Given the description of an element on the screen output the (x, y) to click on. 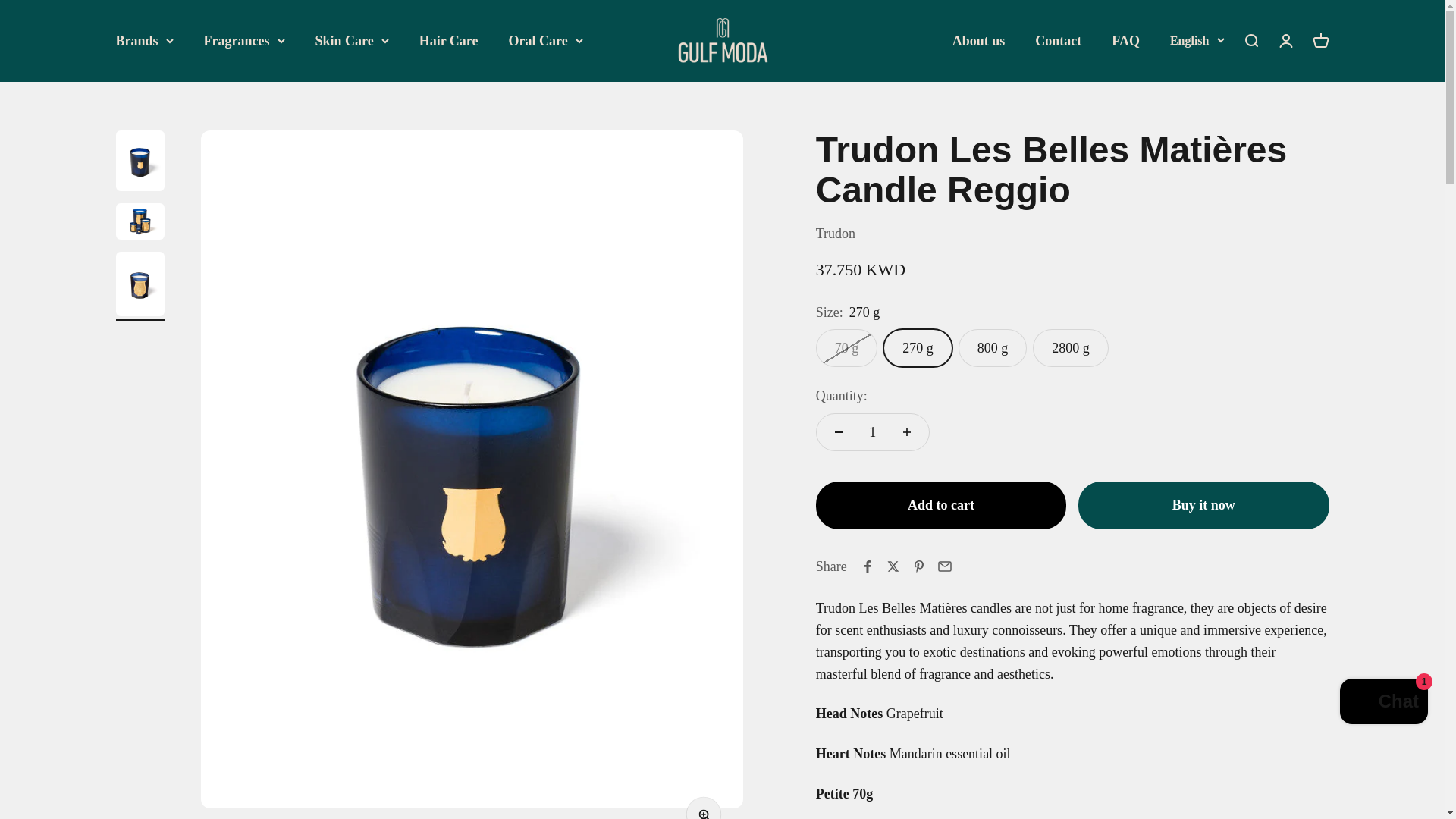
About us (979, 40)
Hair Care (449, 40)
Contact (1058, 40)
Open account page (1285, 40)
FAQ (1126, 40)
English (1197, 40)
Open search (1250, 40)
Gulf Moda (722, 40)
Shopify online store chat (1383, 703)
